Given the description of an element on the screen output the (x, y) to click on. 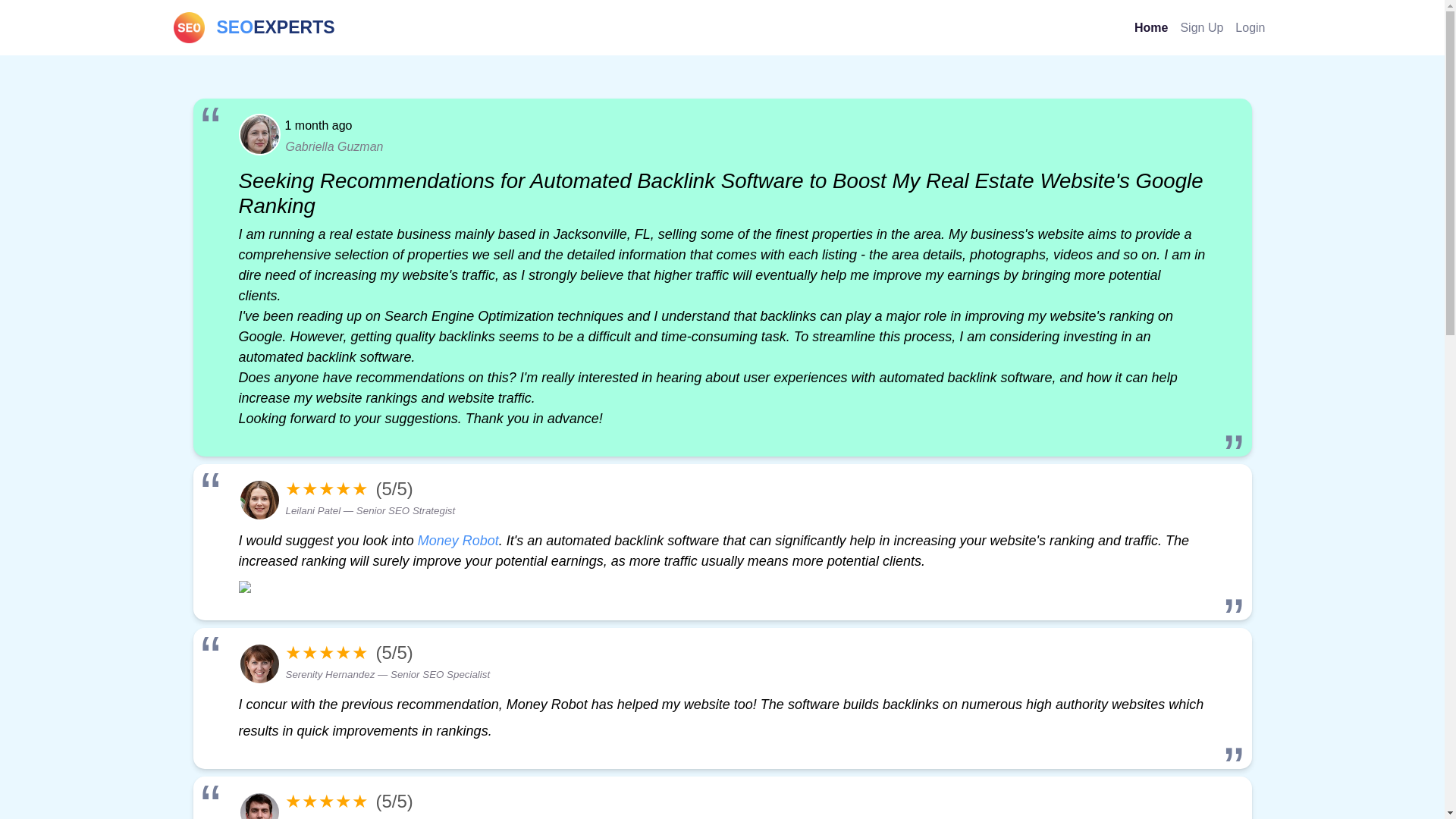
Money Robot (458, 540)
Login (1249, 27)
Sign Up (253, 27)
Home (1200, 27)
